Given the description of an element on the screen output the (x, y) to click on. 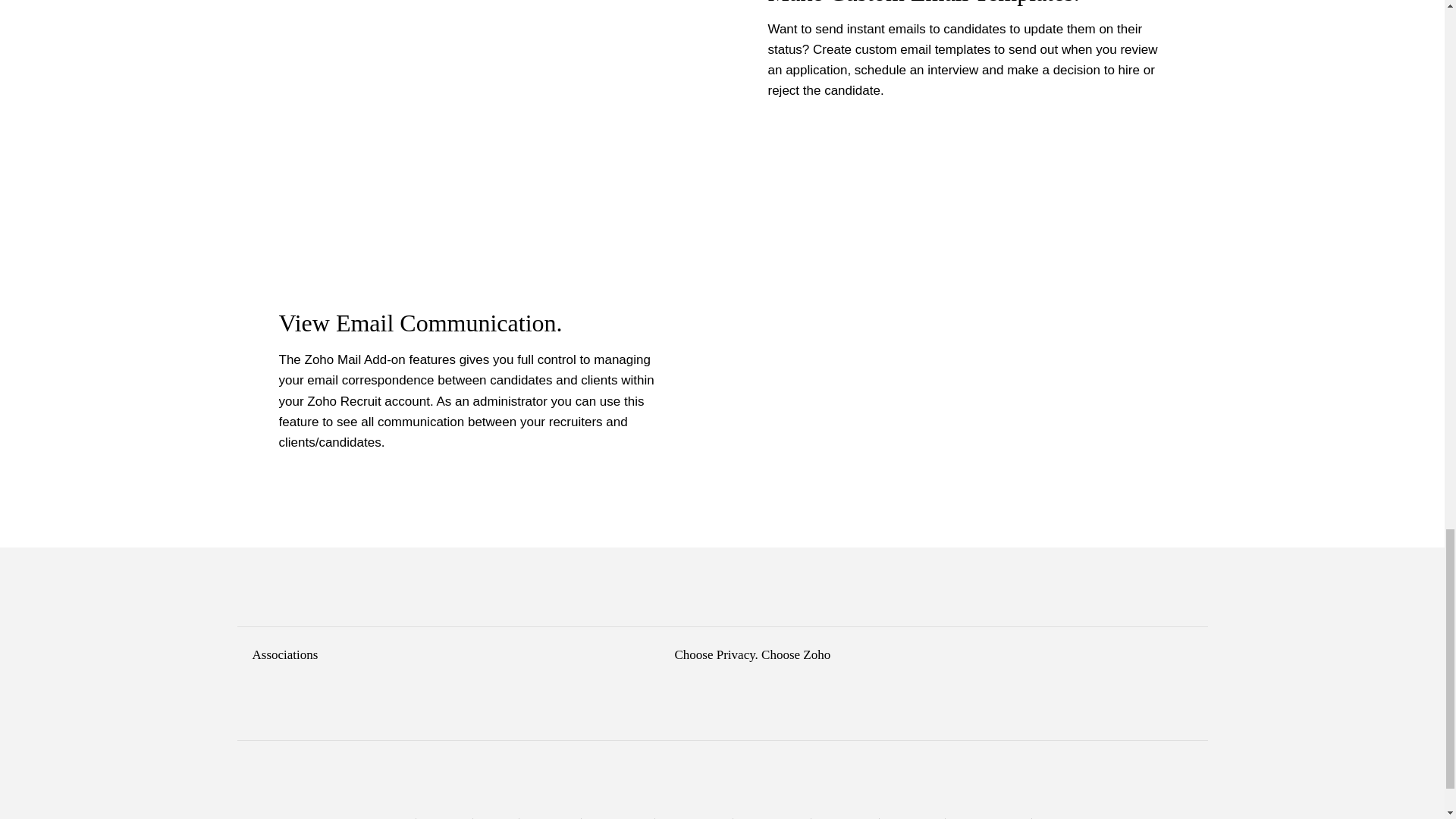
Terms of Service (772, 818)
Privacy Policy (844, 818)
Cookie Policy (911, 818)
Abuse Policy (1063, 818)
Anti-spam Policy (693, 818)
Contact Us (443, 818)
Zoho Home (385, 818)
Compliance (551, 818)
IPR Complaints (617, 818)
